Given the description of an element on the screen output the (x, y) to click on. 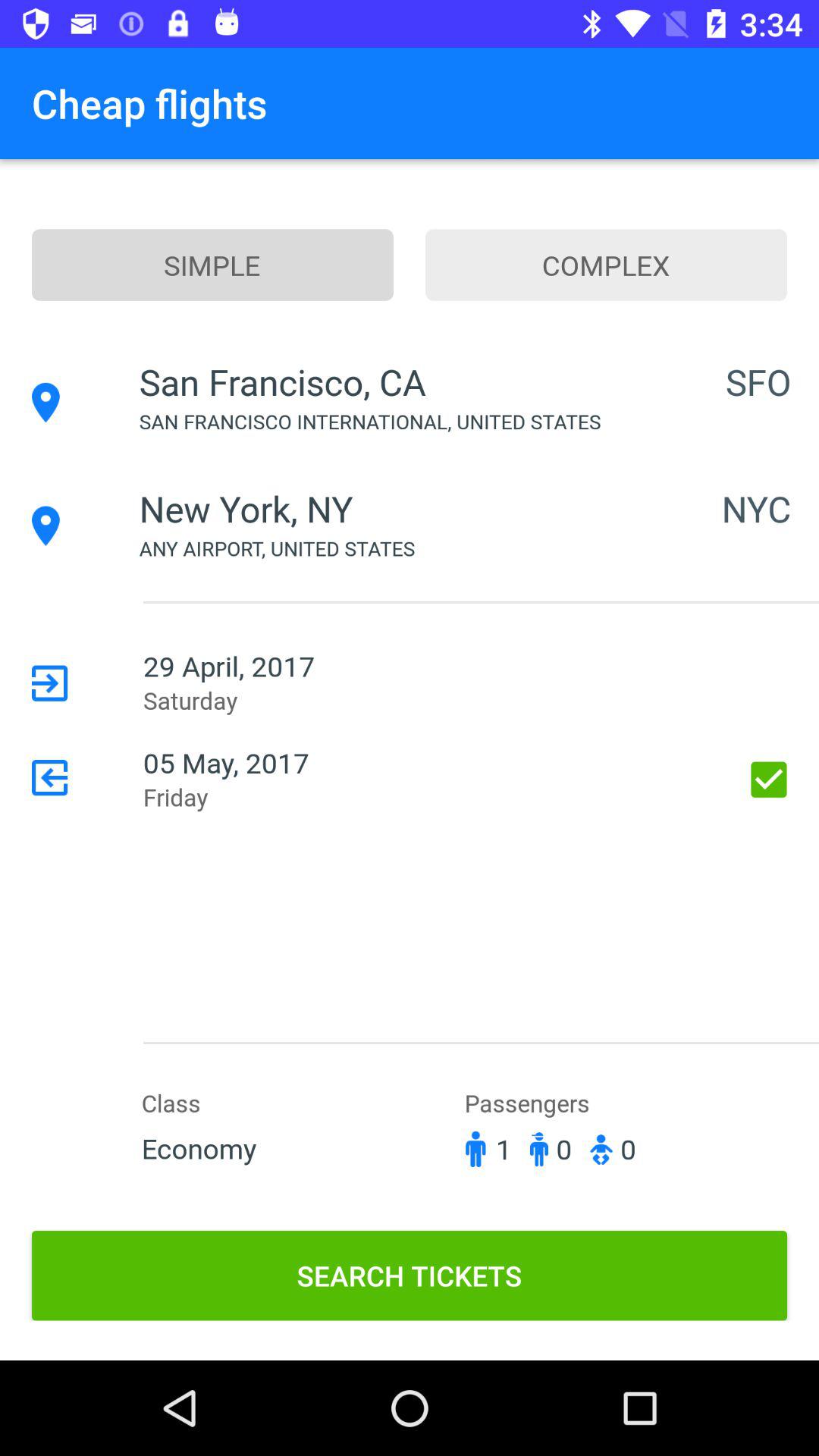
open the icon to the right of the simple item (606, 264)
